Given the description of an element on the screen output the (x, y) to click on. 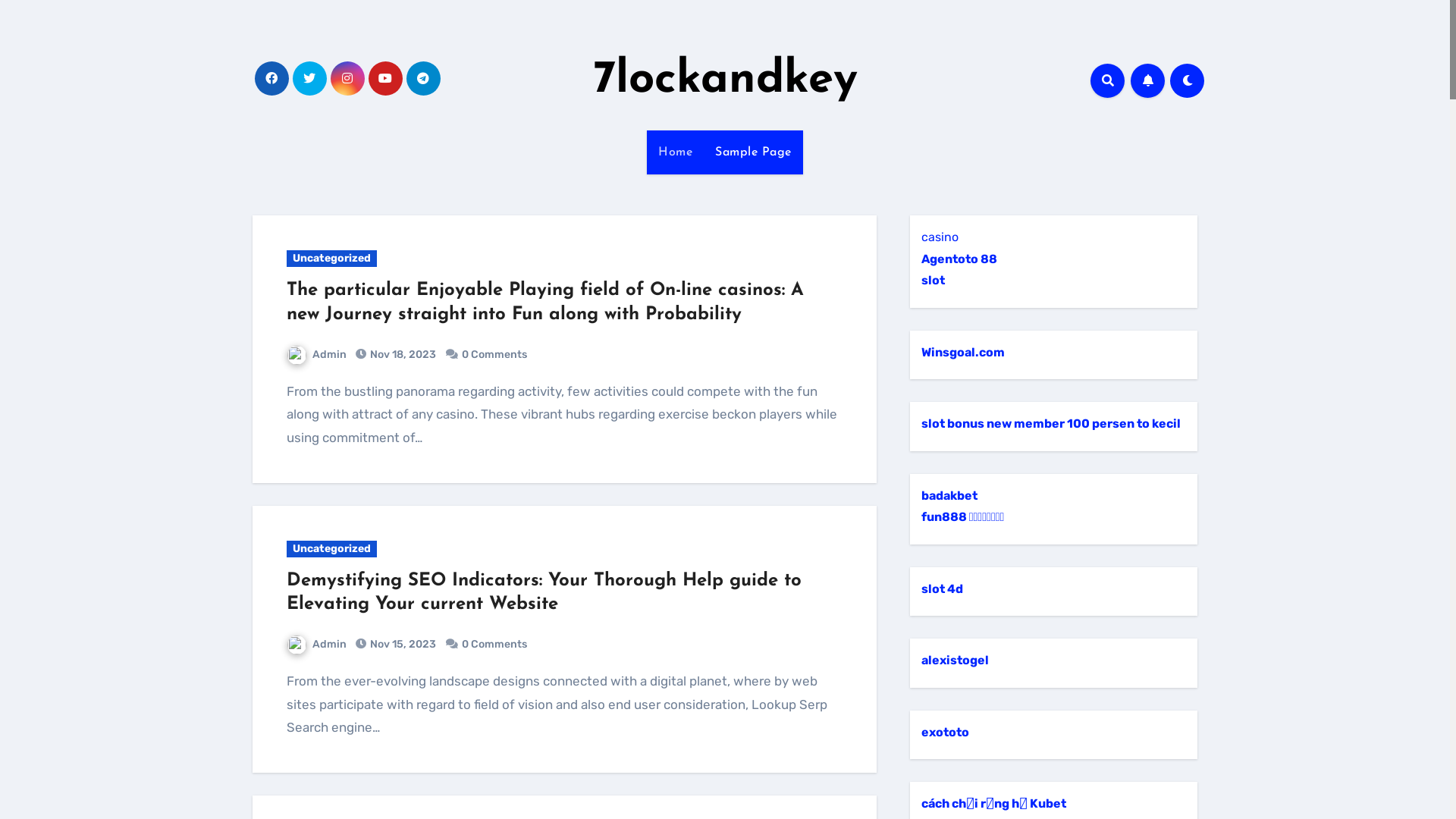
casino Element type: text (939, 236)
0 Comments Element type: text (494, 643)
Admin Element type: text (316, 643)
Sample Page Element type: text (753, 152)
Uncategorized Element type: text (331, 258)
Home Element type: text (674, 152)
badakbet Element type: text (949, 495)
slot bonus new member 100 persen to kecil Element type: text (1050, 423)
Winsgoal.com Element type: text (962, 352)
Nov 15, 2023 Element type: text (401, 643)
Nov 18, 2023 Element type: text (401, 354)
exototo Element type: text (945, 731)
0 Comments Element type: text (494, 354)
7lockandkey Element type: text (725, 80)
Uncategorized Element type: text (331, 548)
alexistogel Element type: text (954, 659)
slot 4d Element type: text (942, 588)
slot Element type: text (932, 280)
Admin Element type: text (316, 354)
Agentoto 88 Element type: text (959, 258)
